Given the description of an element on the screen output the (x, y) to click on. 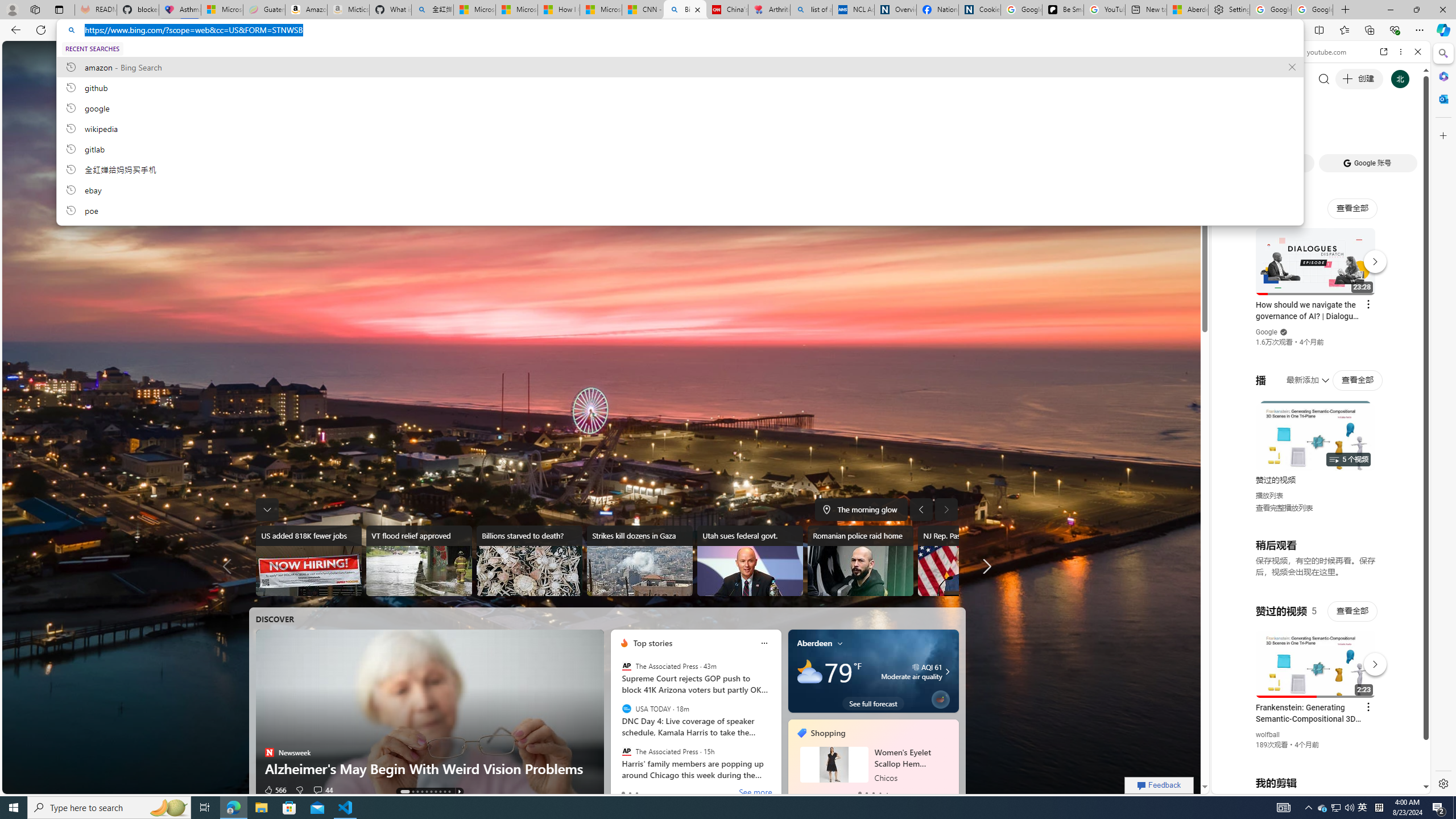
tab-1 (866, 793)
tab-0 (859, 793)
View site information (70, 29)
Previous image (921, 508)
Class: eplant-img (940, 697)
google, recent searches from history (679, 107)
Welcome to Bing Search (165, 54)
Class: weather-arrow-glyph (946, 671)
Class: icon-img (840, 643)
Search Filter, IMAGES (1262, 129)
Split screen (1318, 29)
